Given the description of an element on the screen output the (x, y) to click on. 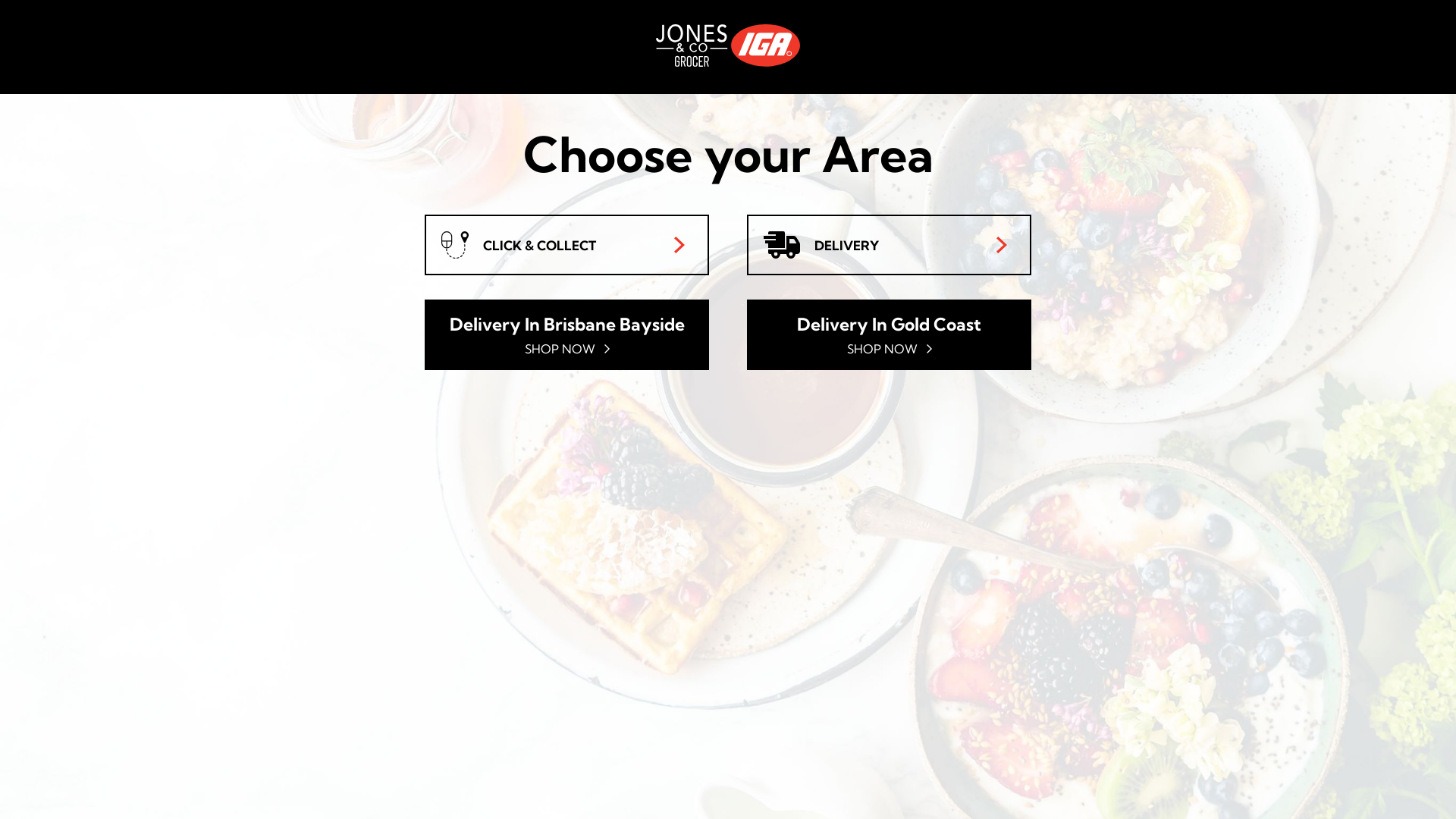
CLICK & COLLECT Element type: text (566, 244)
DELIVERY Element type: text (888, 244)
Delivery In Gold Coast
SHOP NOW Element type: text (888, 334)
Delivery In Brisbane Bayside
SHOP NOW Element type: text (566, 334)
